Given the description of an element on the screen output the (x, y) to click on. 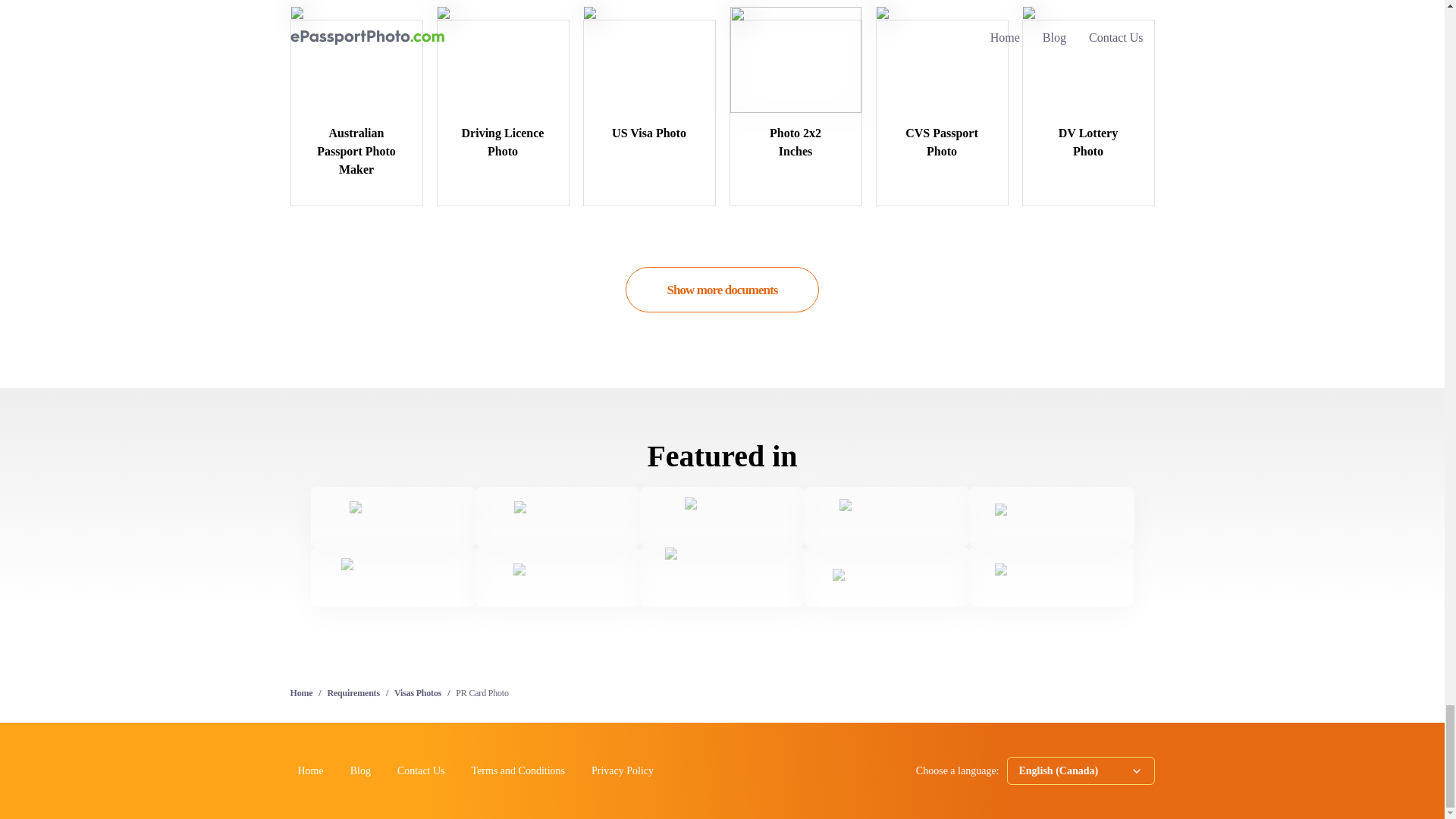
Contact Us (421, 770)
Requirements (353, 692)
DV Lottery Photo (1088, 118)
Home (301, 692)
CVS Passport Photo (942, 118)
Show more documents (722, 289)
Terms and Conditions (517, 770)
Visas Photos (417, 692)
US Visa Photo (650, 109)
Blog (360, 770)
Home (310, 770)
Photo 2x2 Inches (795, 118)
Driving Licence Photo (502, 118)
Privacy Policy (622, 770)
